Given the description of an element on the screen output the (x, y) to click on. 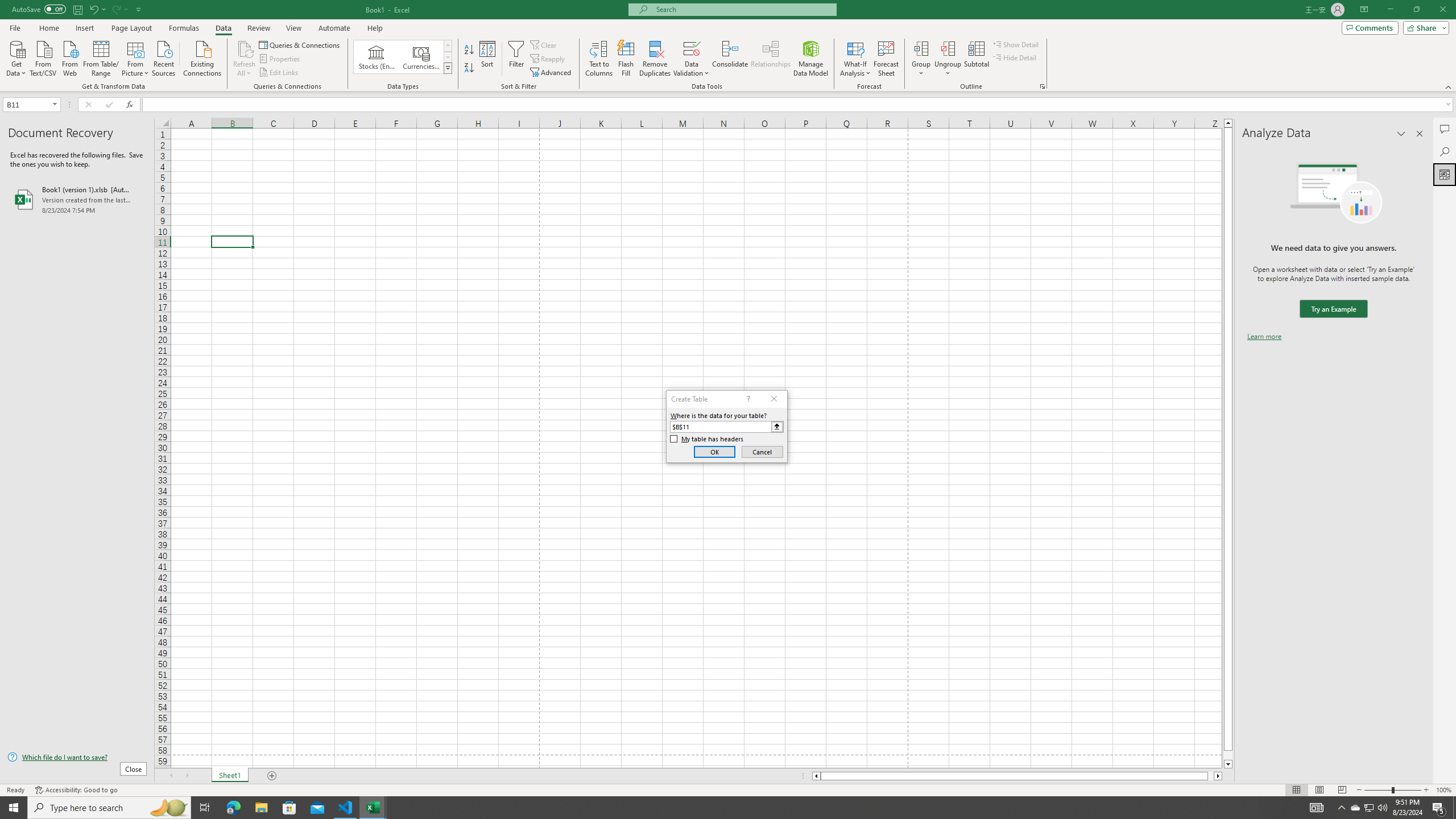
Consolidate... (729, 58)
